Given the description of an element on the screen output the (x, y) to click on. 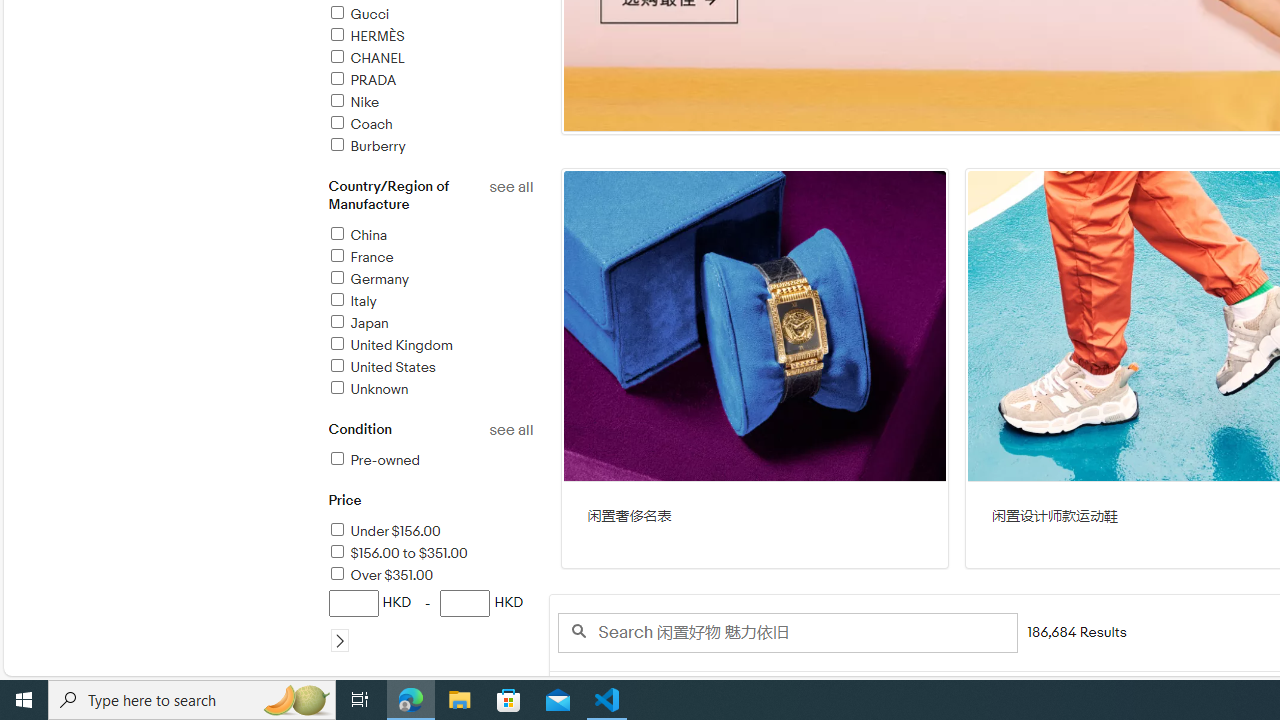
United States (430, 368)
Enter your search keyword (786, 632)
China (430, 236)
Coach (359, 124)
$156.00 to $351.00 (397, 553)
